Given the description of an element on the screen output the (x, y) to click on. 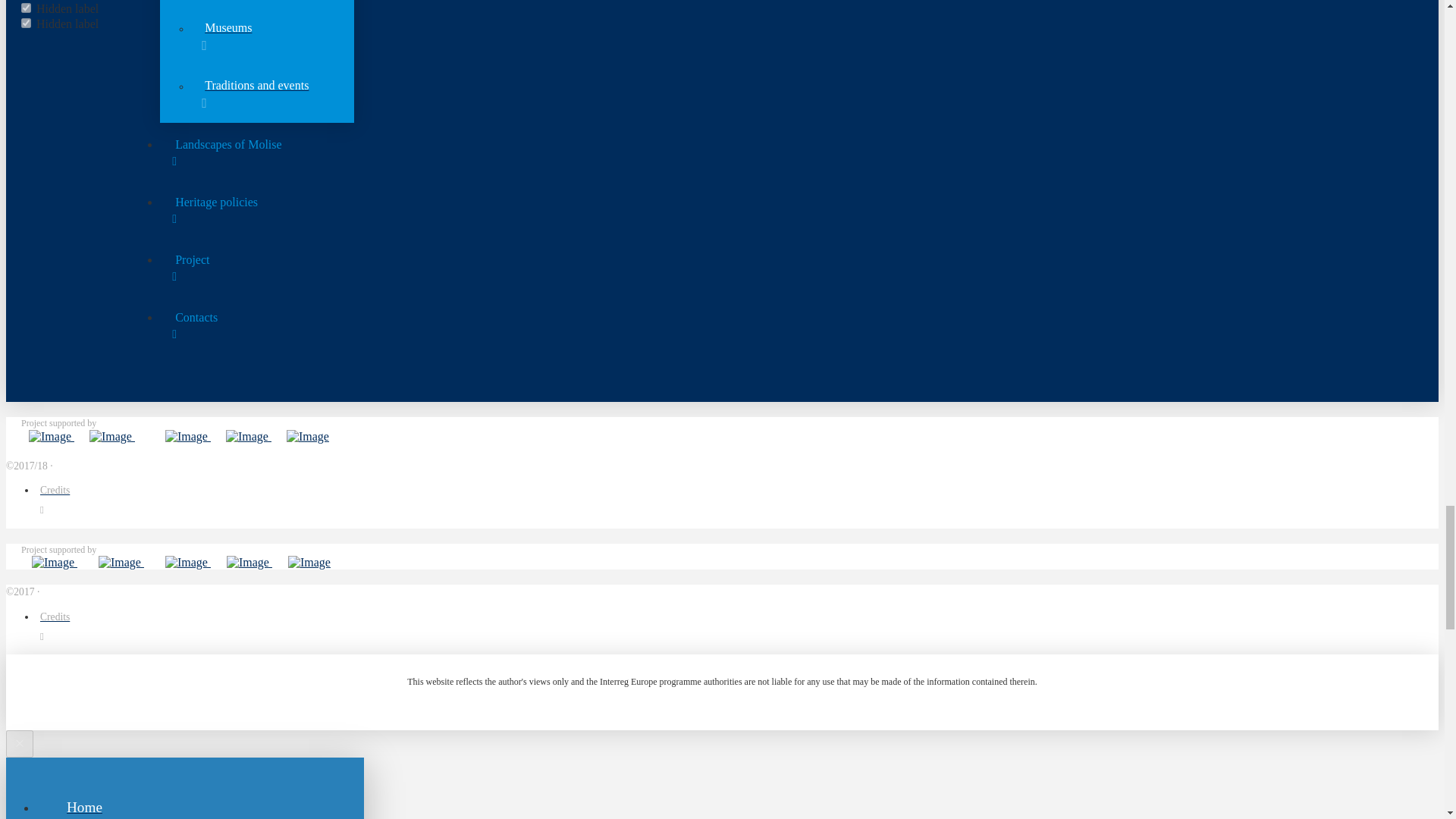
poi (25, 22)
page (25, 8)
